Given the description of an element on the screen output the (x, y) to click on. 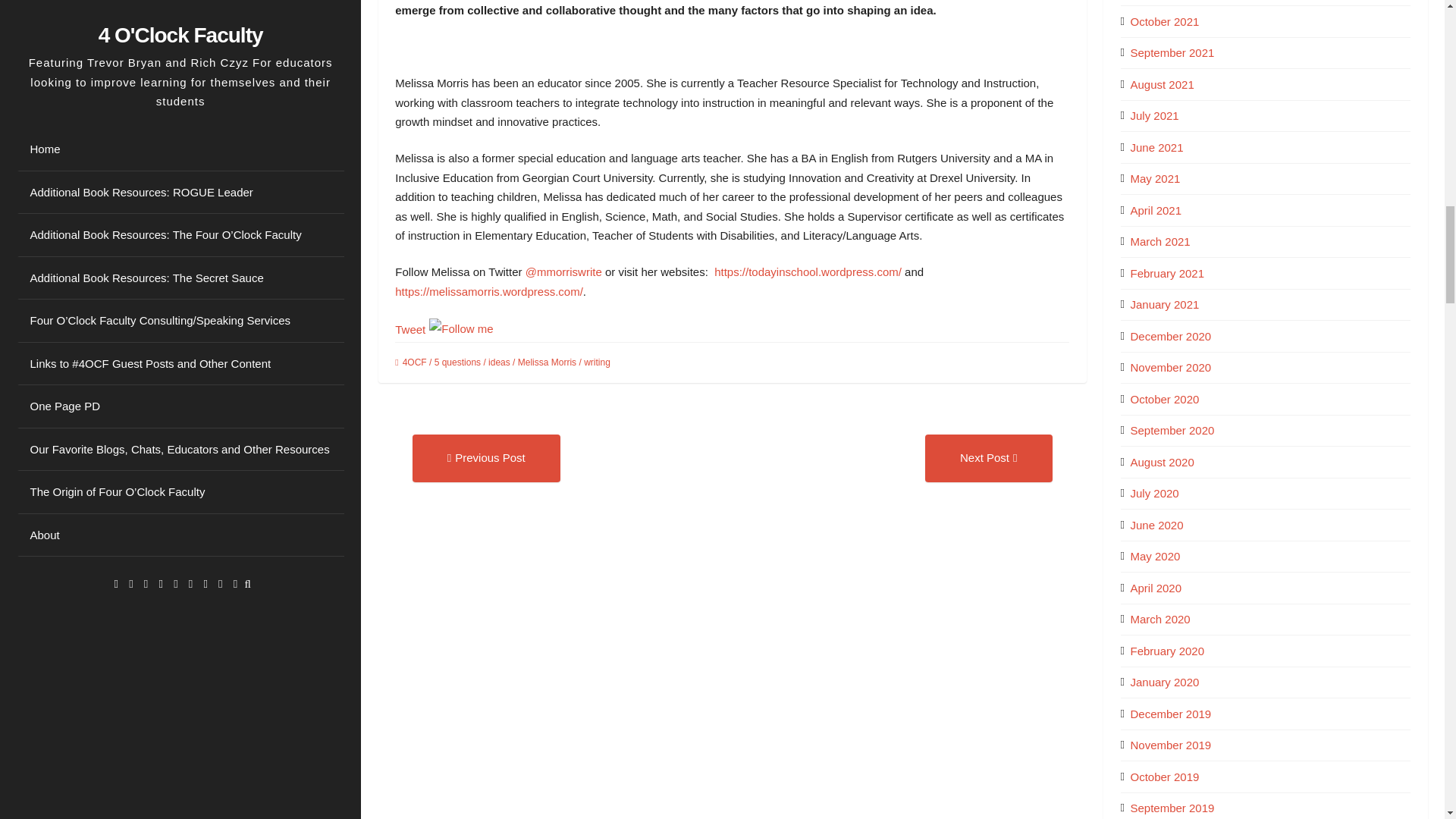
ideas (499, 362)
Melissa Morris (547, 362)
5 questions (456, 362)
Tweet (409, 328)
4OCF (414, 362)
Changing the PD Model in Your District (486, 458)
Follow me (461, 328)
writing (596, 362)
